Given the description of an element on the screen output the (x, y) to click on. 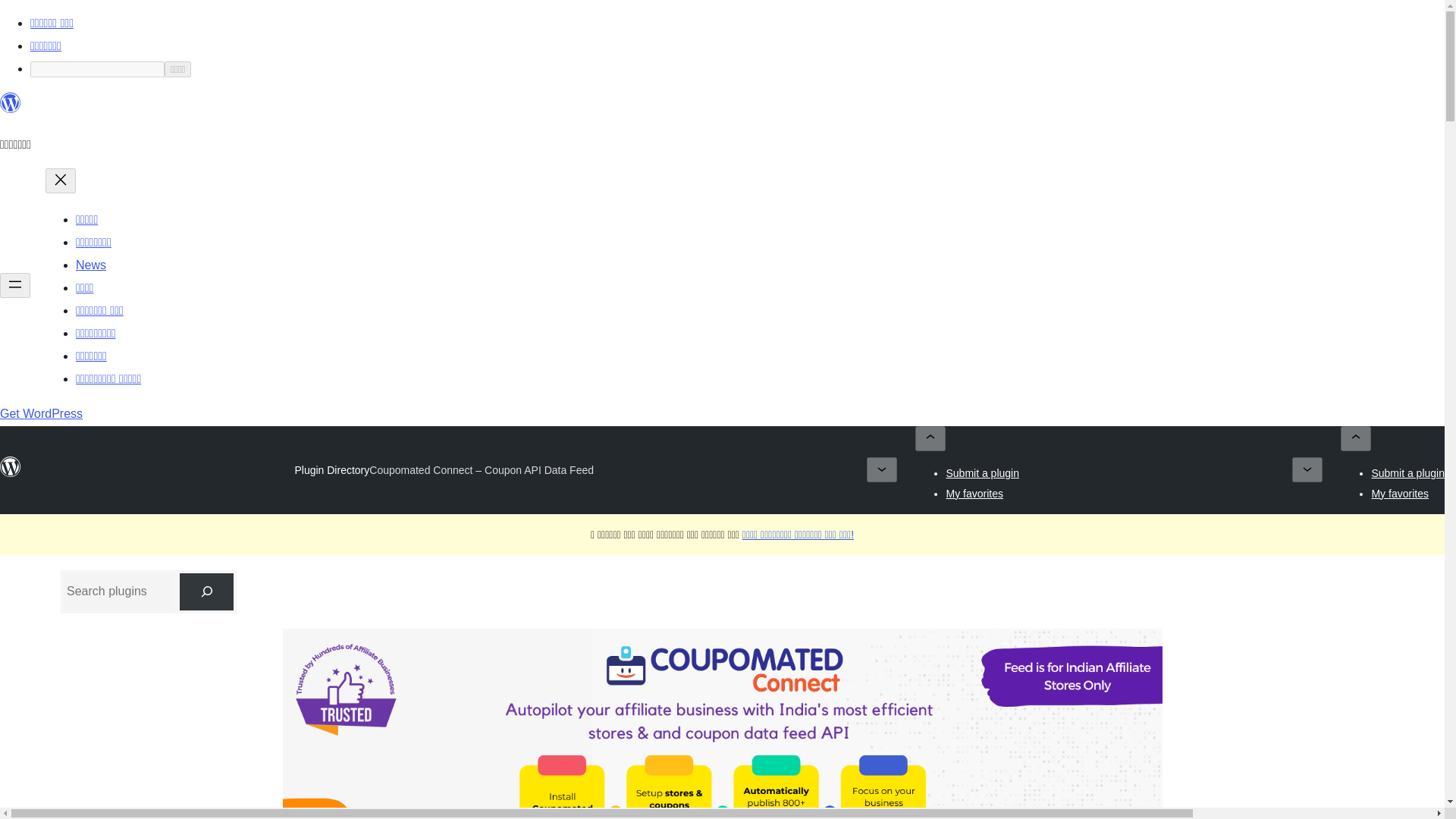
My favorites (1399, 492)
WordPress.org (10, 109)
Submit a plugin (1407, 472)
Submit a plugin (981, 472)
Plugin Directory (331, 469)
WordPress.org (10, 466)
Get WordPress (41, 413)
WordPress.org (10, 473)
My favorites (973, 492)
News (90, 264)
WordPress.org (10, 102)
